Given the description of an element on the screen output the (x, y) to click on. 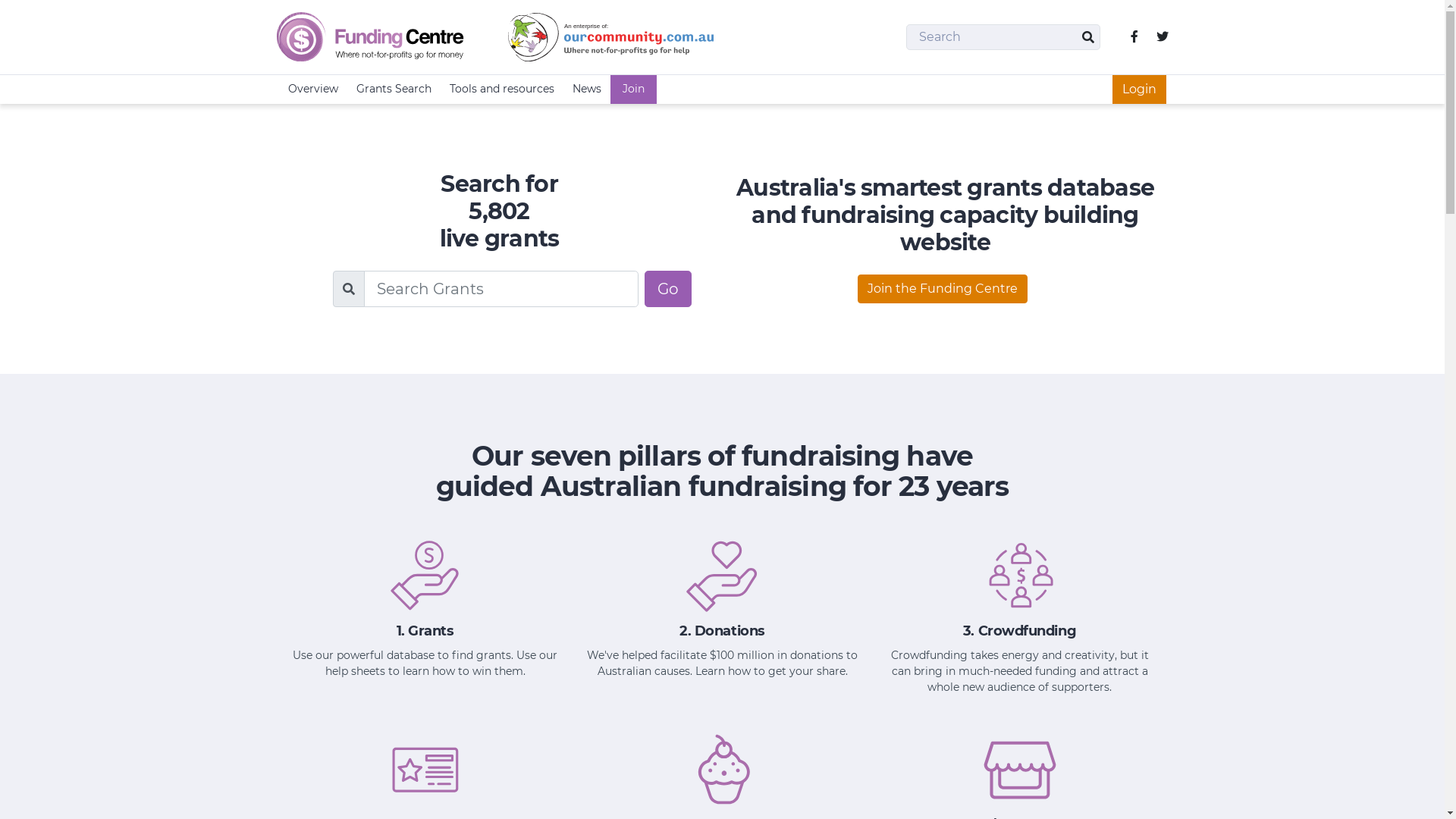
Go Element type: text (667, 288)
Join the Funding Centre Element type: text (941, 288)
Search Element type: text (1087, 37)
Follow us on Twitter Element type: text (1161, 37)
Login Element type: text (1138, 89)
Like us on Facebook Element type: text (1133, 37)
News Element type: text (585, 89)
Overview Element type: text (313, 89)
Tools and resources Element type: text (500, 89)
Join Element type: text (632, 89)
Grants Search Element type: text (393, 89)
